Given the description of an element on the screen output the (x, y) to click on. 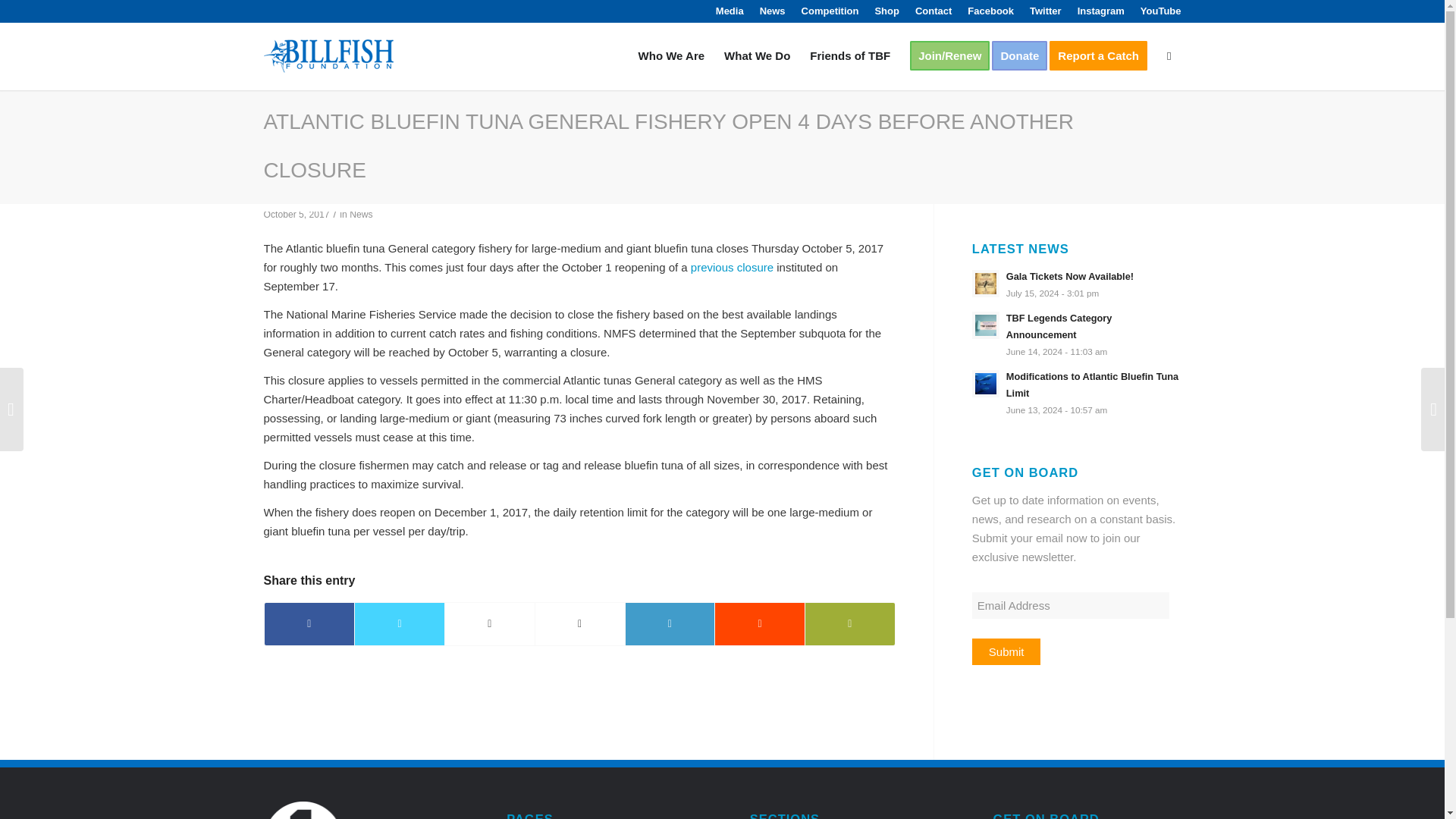
YouTube (1160, 11)
Contact (933, 11)
Who We Are (671, 56)
News (360, 214)
Twitter (1045, 11)
What We Do (756, 56)
Facebook (990, 11)
Submit (1006, 651)
Gala Tickets Now Available! (1076, 283)
Instagram (1100, 11)
Competition (830, 11)
Report a Catch (1103, 56)
Donate (1024, 56)
TBF Legends Category Announcement (1076, 333)
